Given the description of an element on the screen output the (x, y) to click on. 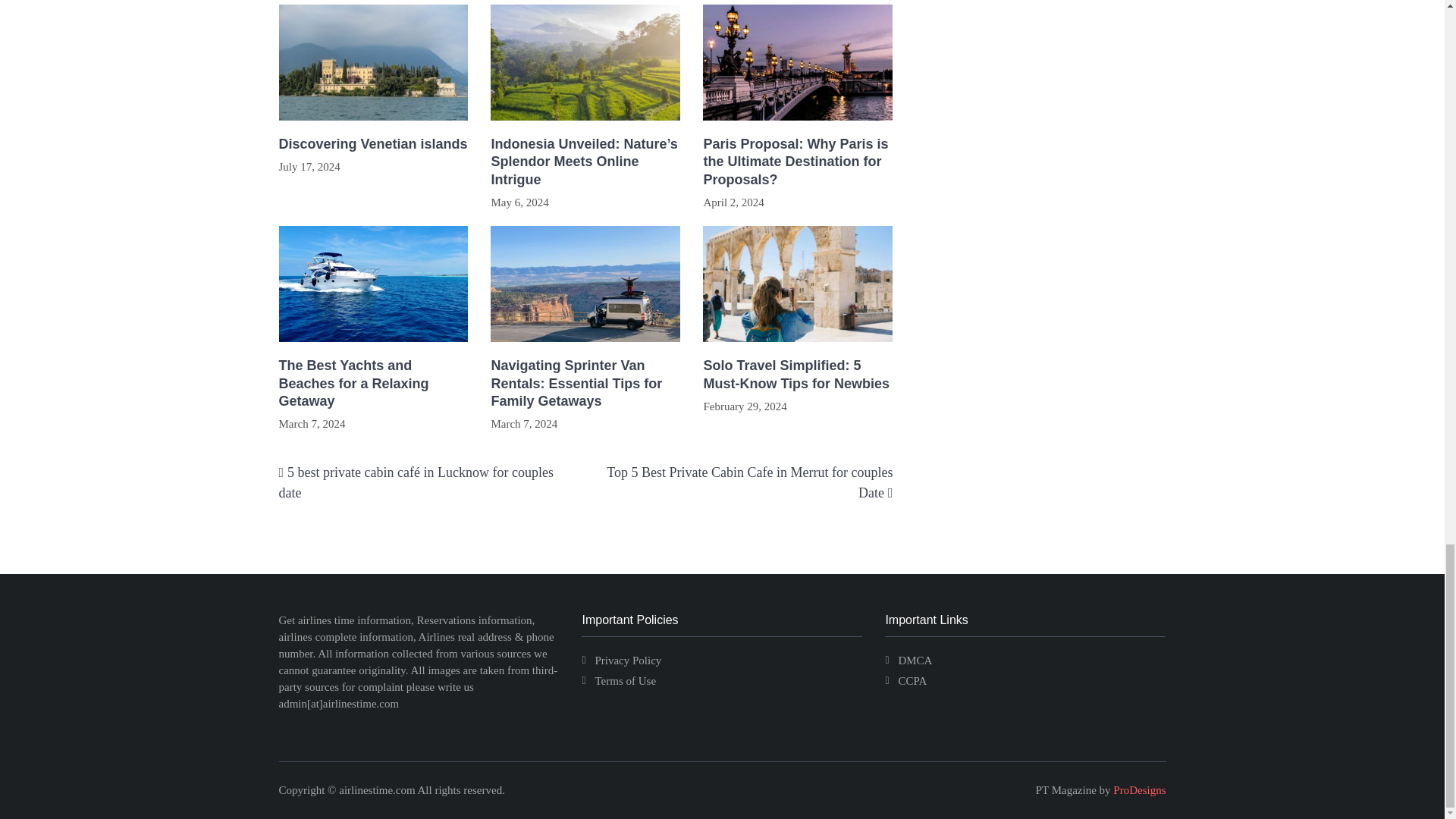
Discovering Venetian islands (373, 144)
Top 5 Best Private Cabin Cafe in Merrut for couples Date (749, 482)
The Best Yachts and Beaches for a Relaxing Getaway (373, 383)
Solo Travel Simplified: 5 Must-Know Tips for Newbies (797, 375)
